Given the description of an element on the screen output the (x, y) to click on. 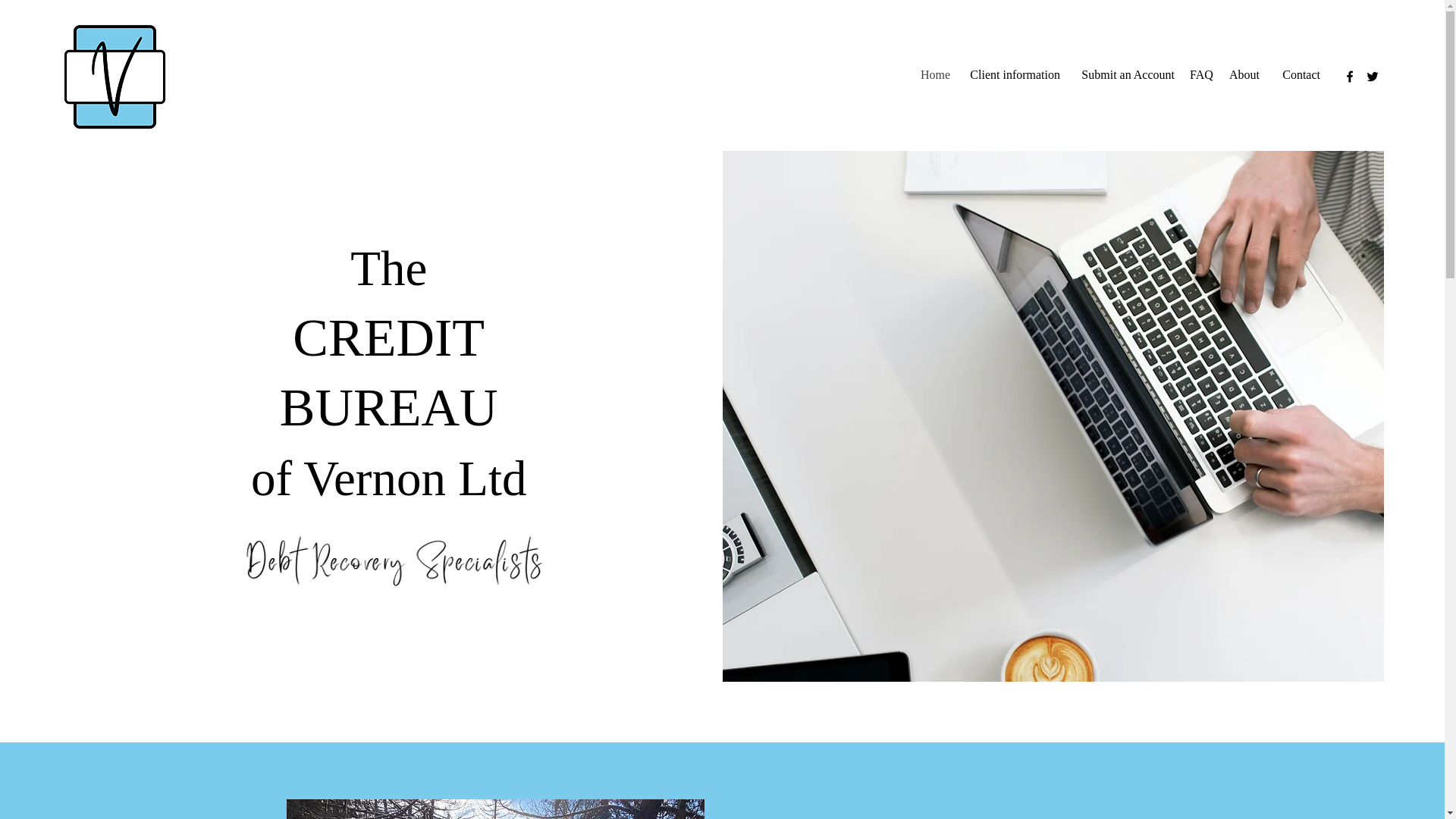
About (1243, 74)
FAQ (1201, 74)
Contact (1296, 74)
Submit an Account (1124, 74)
Client information (1012, 74)
Home (935, 74)
